Given the description of an element on the screen output the (x, y) to click on. 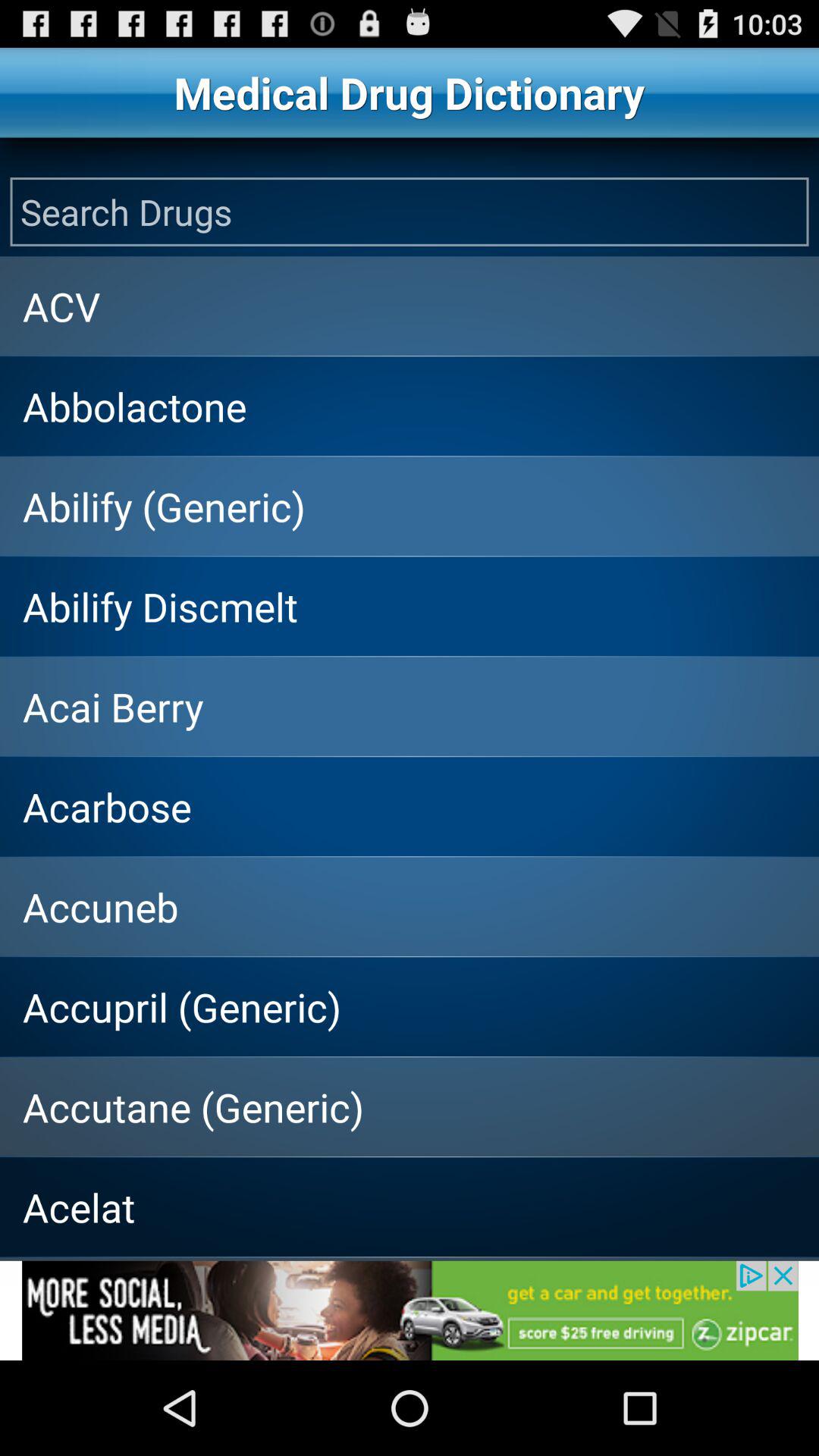
more information about an advertisement (409, 1310)
